Given the description of an element on the screen output the (x, y) to click on. 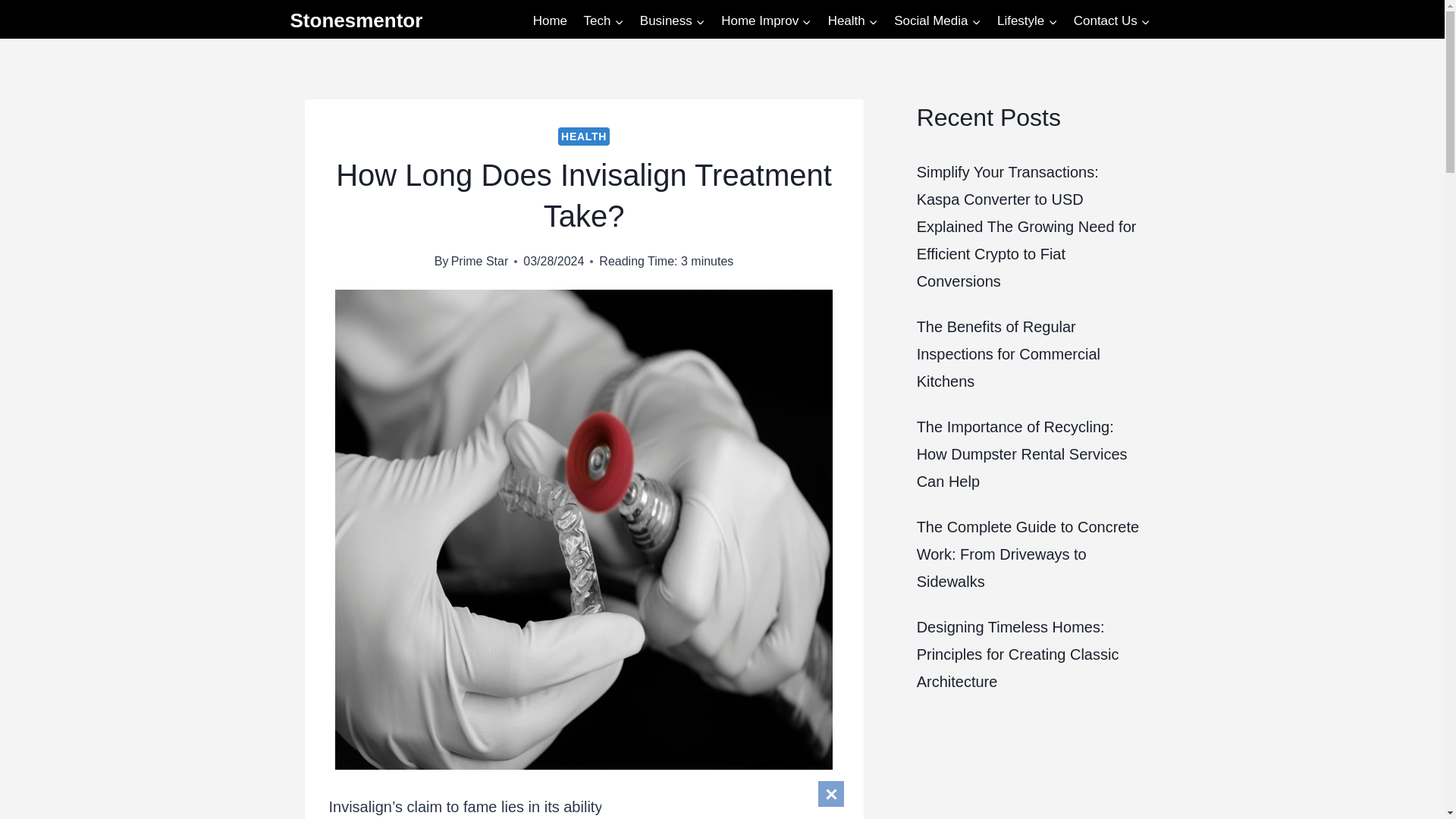
Health (852, 21)
Tech (603, 21)
Lifestyle (1026, 21)
Social Media (936, 21)
Stonesmentor (355, 20)
Home (549, 21)
Home Improv (765, 21)
Business (672, 21)
